Given the description of an element on the screen output the (x, y) to click on. 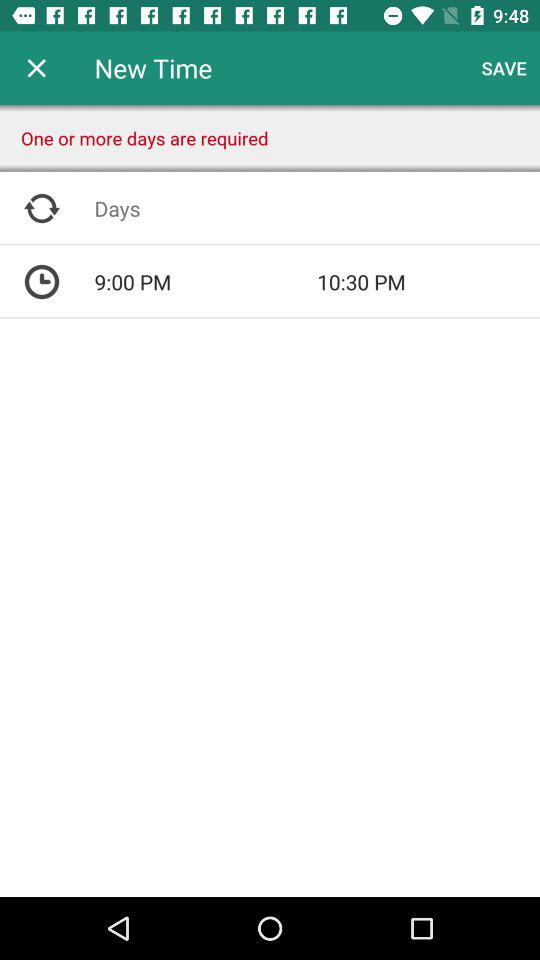
turn off item above the 9:00 pm item (317, 208)
